Given the description of an element on the screen output the (x, y) to click on. 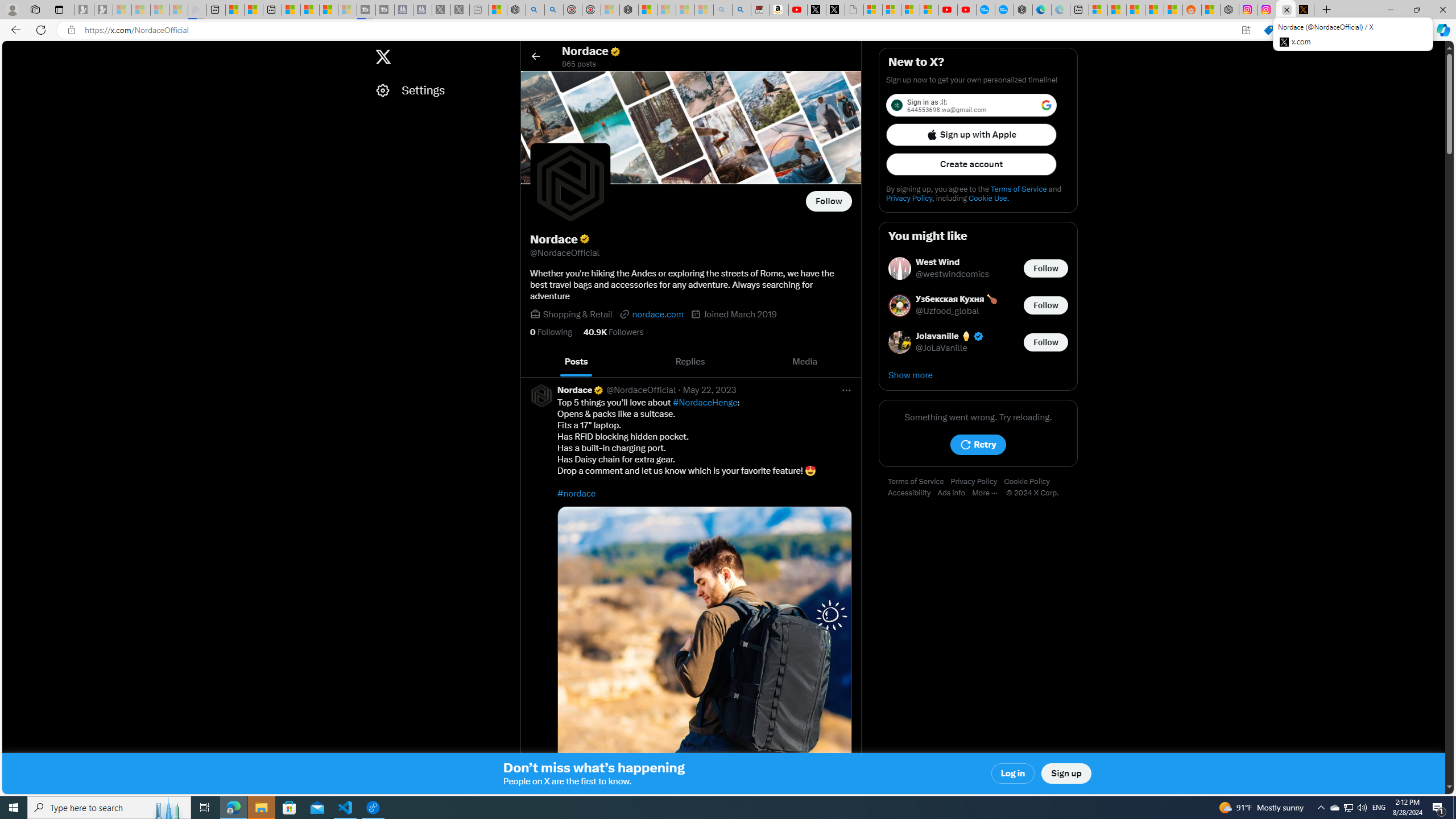
poe - Search (534, 9)
Ads info (954, 492)
West Wind (952, 262)
amazon - Search - Sleeping (722, 9)
Shanghai, China hourly forecast | Microsoft Weather (1135, 9)
Follow @NordaceOfficial (828, 201)
Provides details about verified accounts. (583, 238)
0 Following (550, 331)
May 22, 2023 (709, 389)
